Given the description of an element on the screen output the (x, y) to click on. 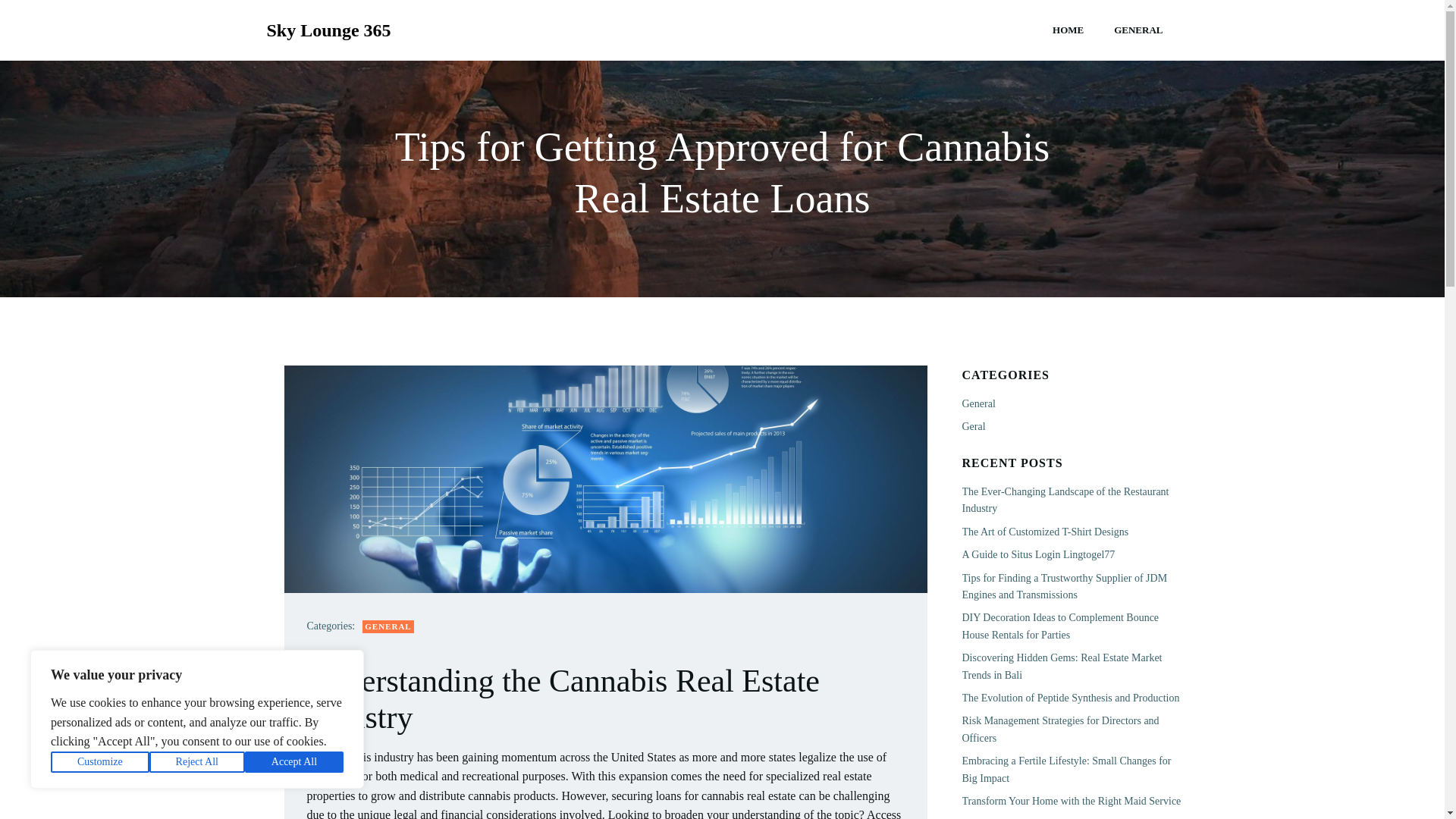
Geral (972, 426)
Evaluating Credibility in YouTube Views Providers (1070, 594)
Sky Lounge 365 (328, 30)
GENERAL (387, 626)
Customize (99, 762)
General (977, 403)
The Timeless Elegance of Limoges Porcelain (1057, 531)
GENERAL (1137, 29)
The Art of Collecting and Investing in Limoges Porcelain (1061, 665)
HOME (1067, 29)
Reject All (196, 762)
The Evolution of Factoring: Embracing Cloud Software (1058, 625)
The Power of Invoice Factoring: Fueling Business Growth (1067, 562)
Accept All (293, 762)
